Given the description of an element on the screen output the (x, y) to click on. 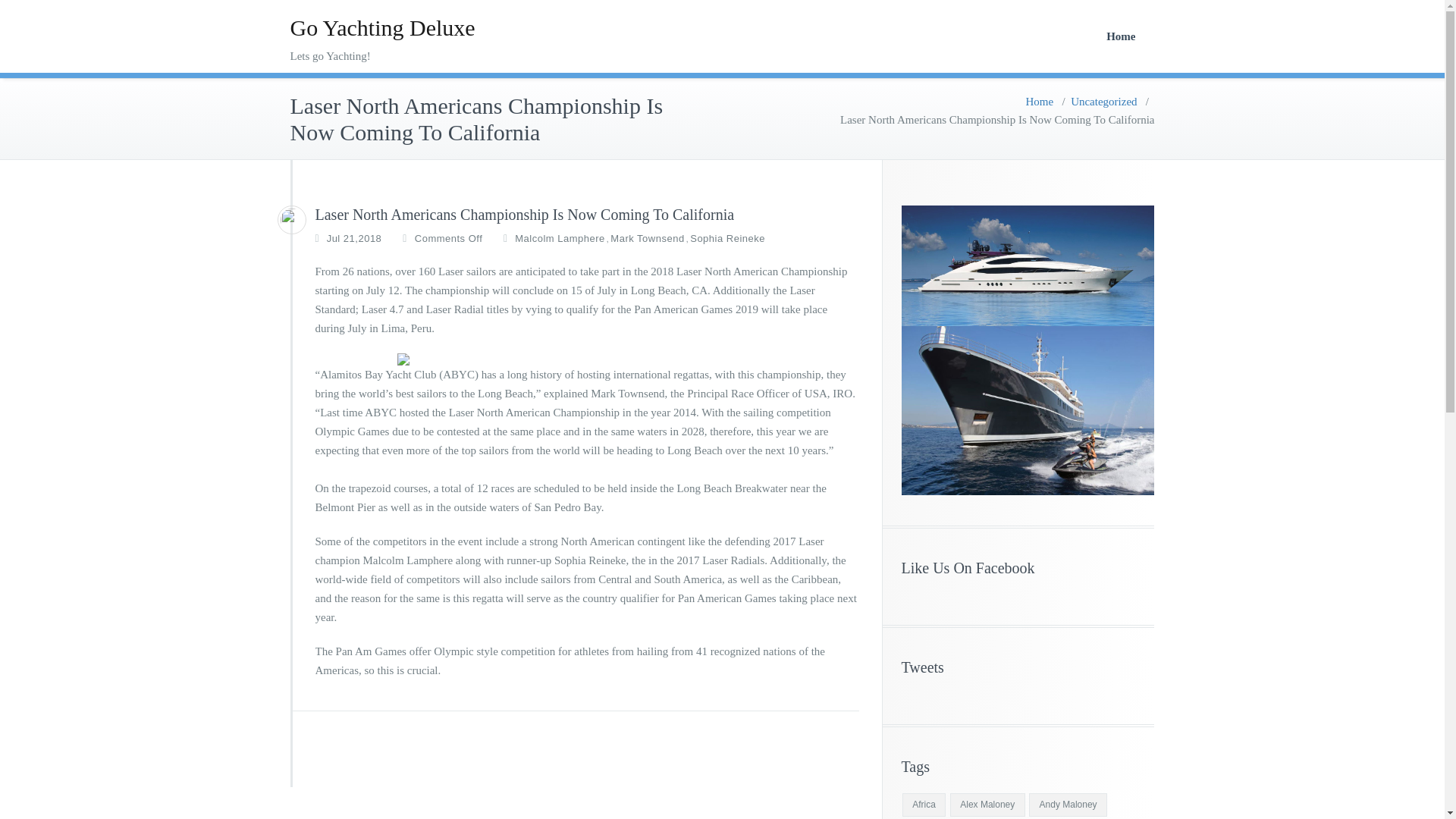
Go Yachting Deluxe (381, 27)
Home (1120, 36)
Home (1120, 36)
Sophia Reineke (727, 238)
Andy Maloney (1067, 804)
Jul 21,2018 (353, 238)
Alex Maloney (987, 804)
Mark Townsend (647, 238)
Uncategorized (1103, 101)
Home (1040, 101)
Malcolm Lamphere (560, 238)
Africa (924, 804)
